Given the description of an element on the screen output the (x, y) to click on. 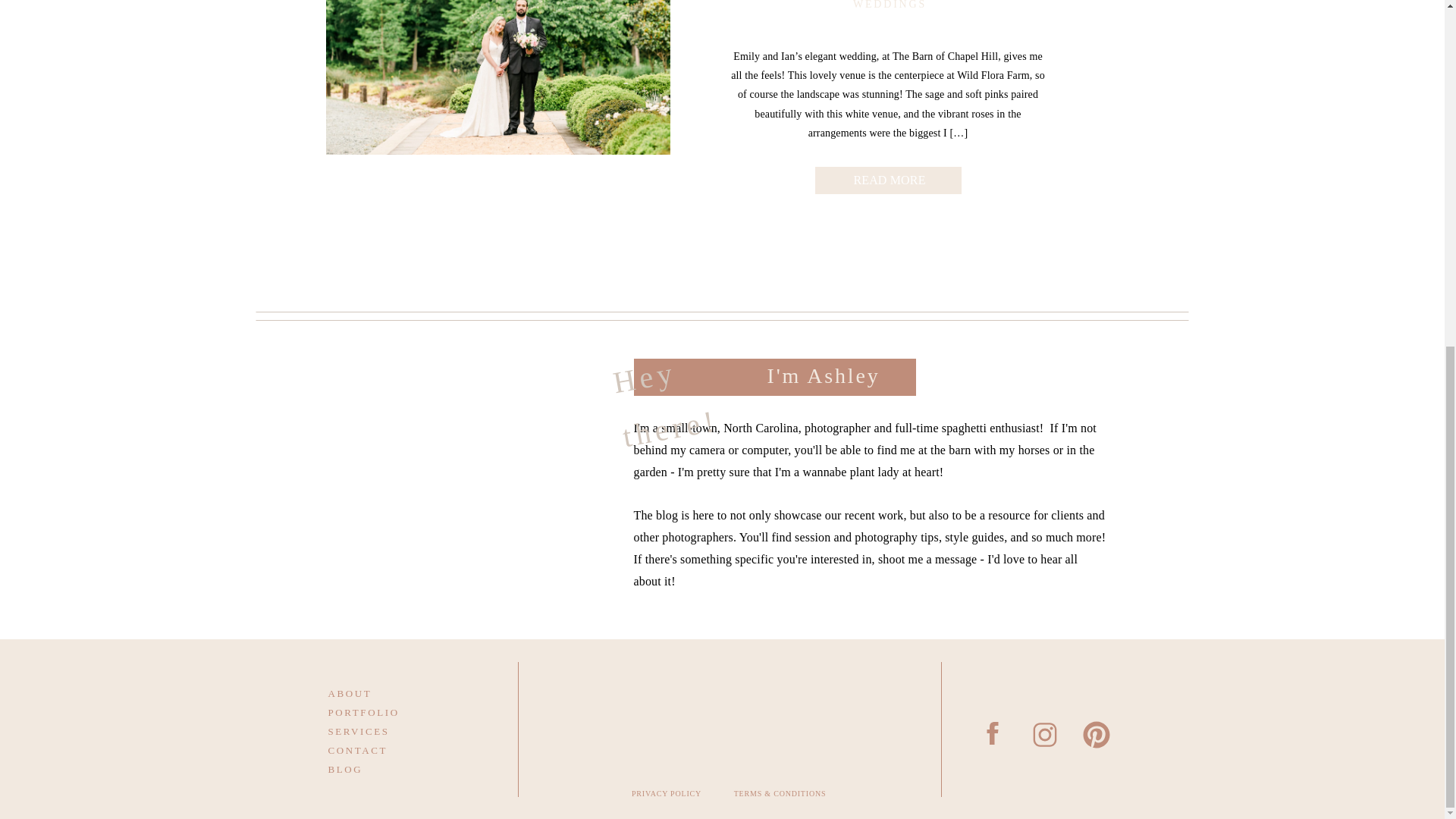
READ MORE (888, 177)
WEDDINGS (889, 4)
CONTACT (384, 749)
PRIVACY POLICY (666, 797)
ABOUT (384, 692)
SERVICES (384, 729)
PORTFOLIO (384, 711)
BLOG (384, 767)
